Given the description of an element on the screen output the (x, y) to click on. 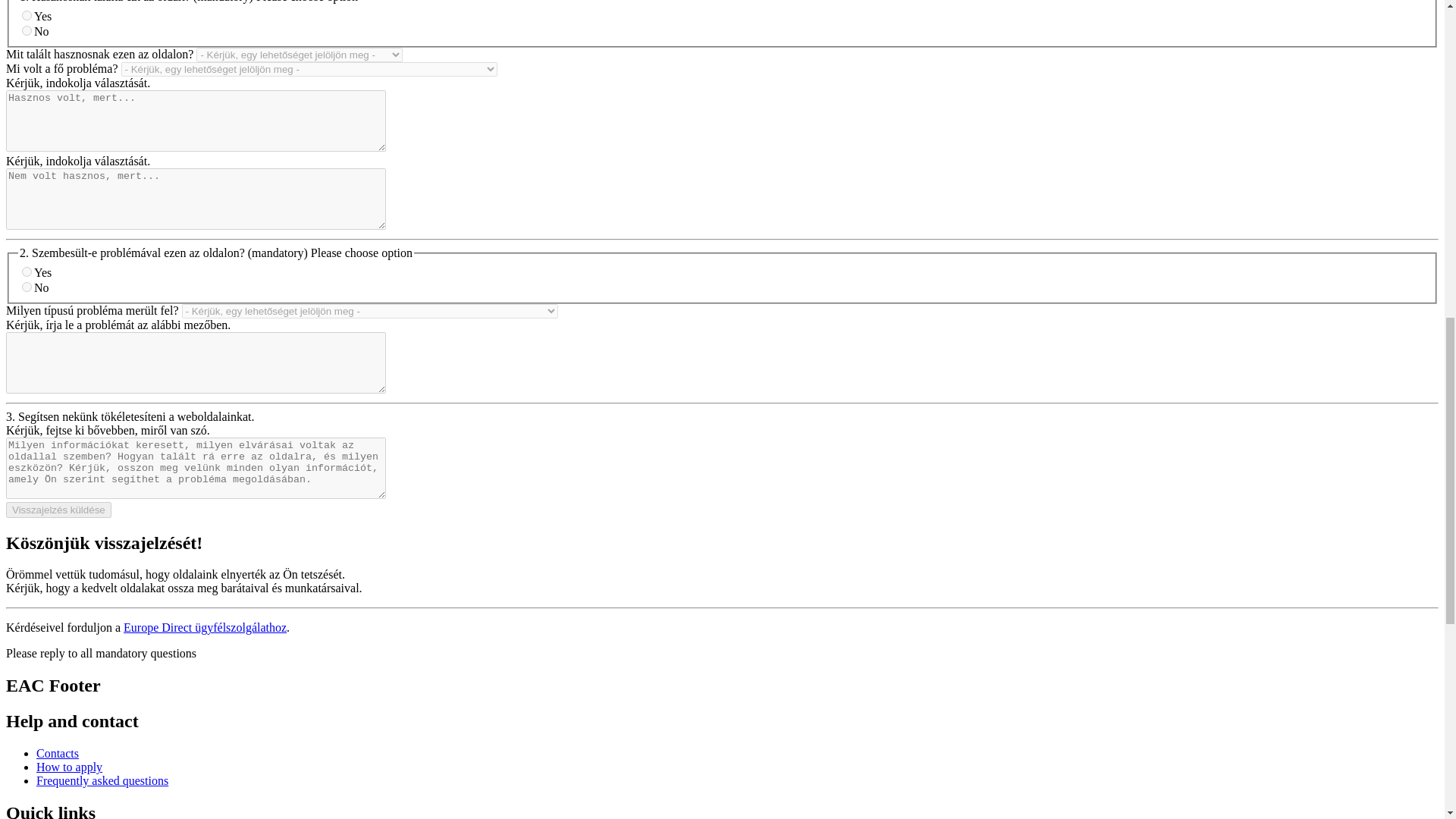
No (26, 30)
How to apply (68, 766)
Frequently asked questions (102, 780)
Yes (26, 15)
Yes (26, 271)
No (26, 286)
Contacts (57, 753)
